Given the description of an element on the screen output the (x, y) to click on. 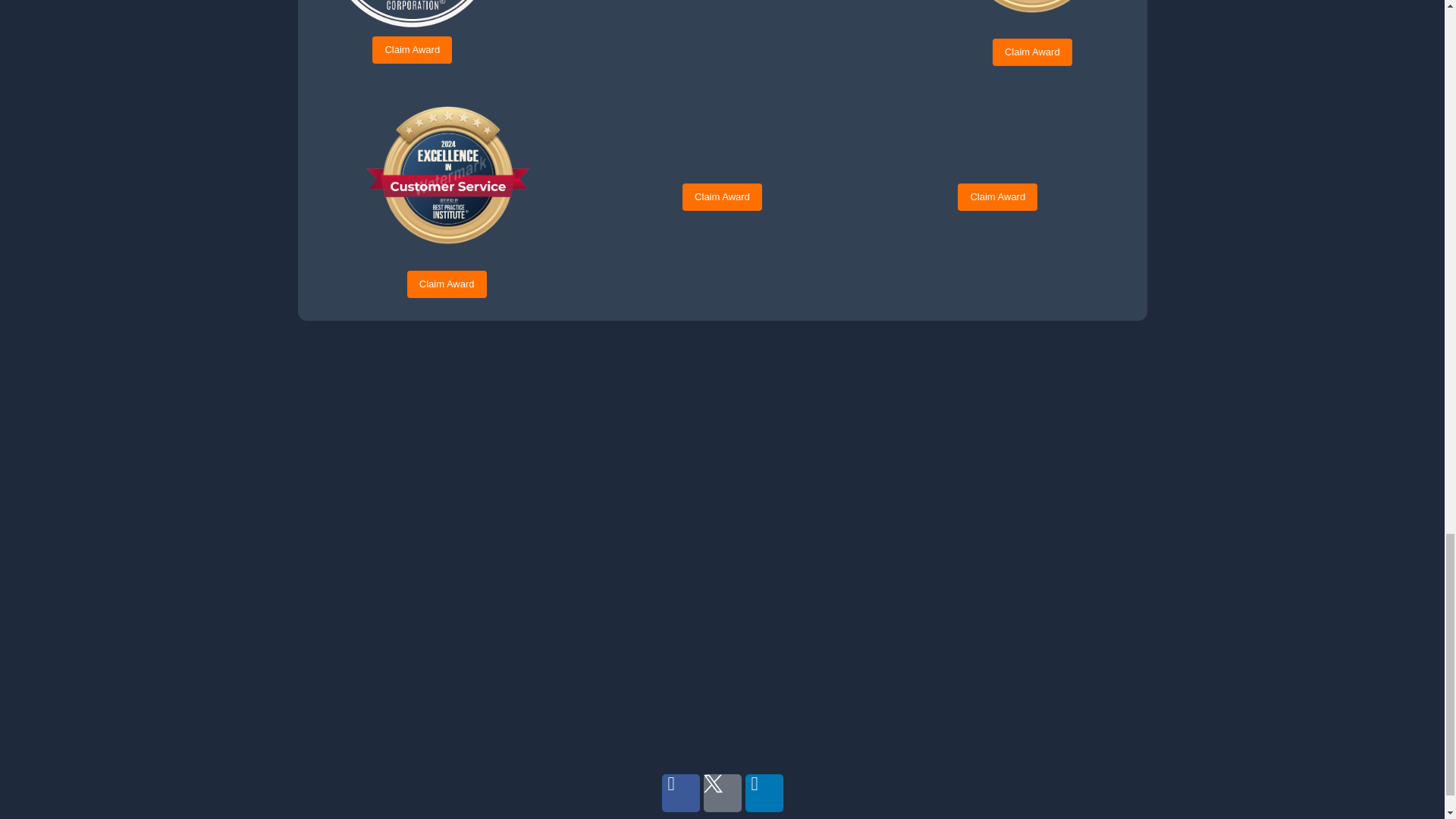
Claim Award (411, 49)
Claim Award (1031, 52)
